Given the description of an element on the screen output the (x, y) to click on. 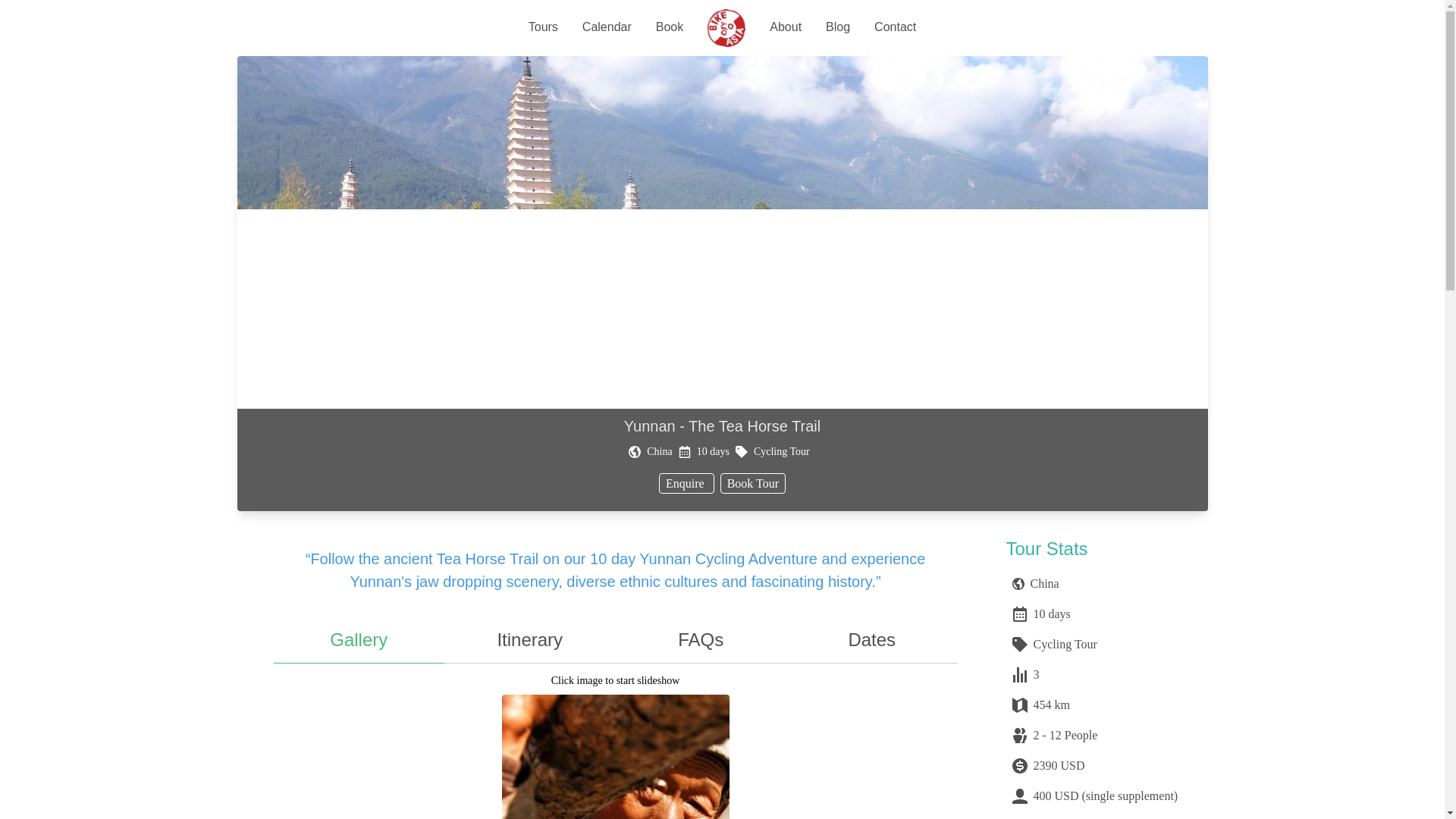
Calendar (606, 27)
Contact (894, 27)
Blog (837, 27)
Dates (872, 640)
About (785, 27)
FAQs (701, 640)
Book Tour (753, 483)
Enquire (686, 483)
Itinerary (529, 640)
Tours (543, 27)
Book (668, 27)
Gallery (358, 640)
